Given the description of an element on the screen output the (x, y) to click on. 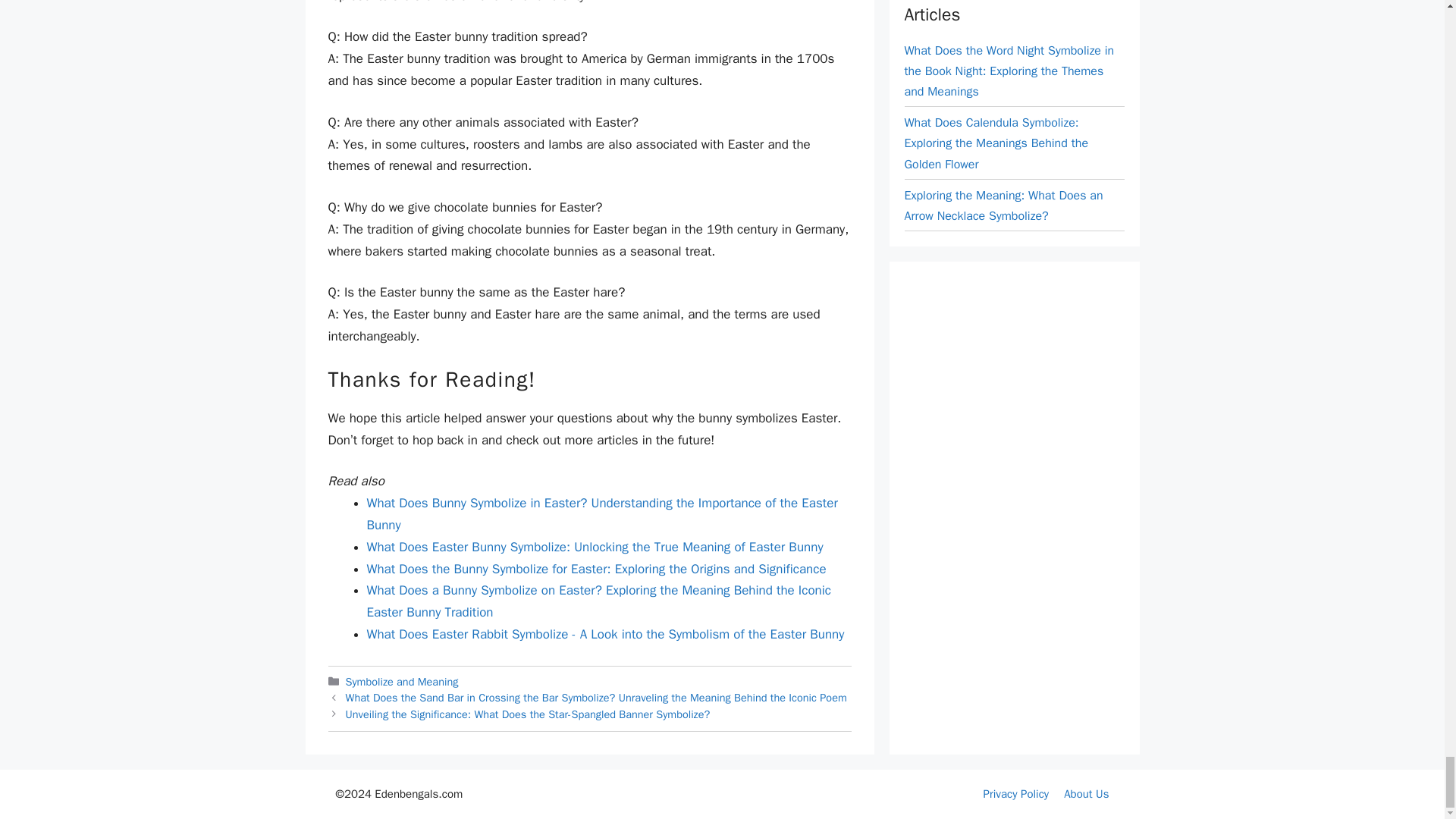
Symbolize and Meaning (402, 681)
Privacy Policy (1016, 793)
About Us (1086, 793)
